Given the description of an element on the screen output the (x, y) to click on. 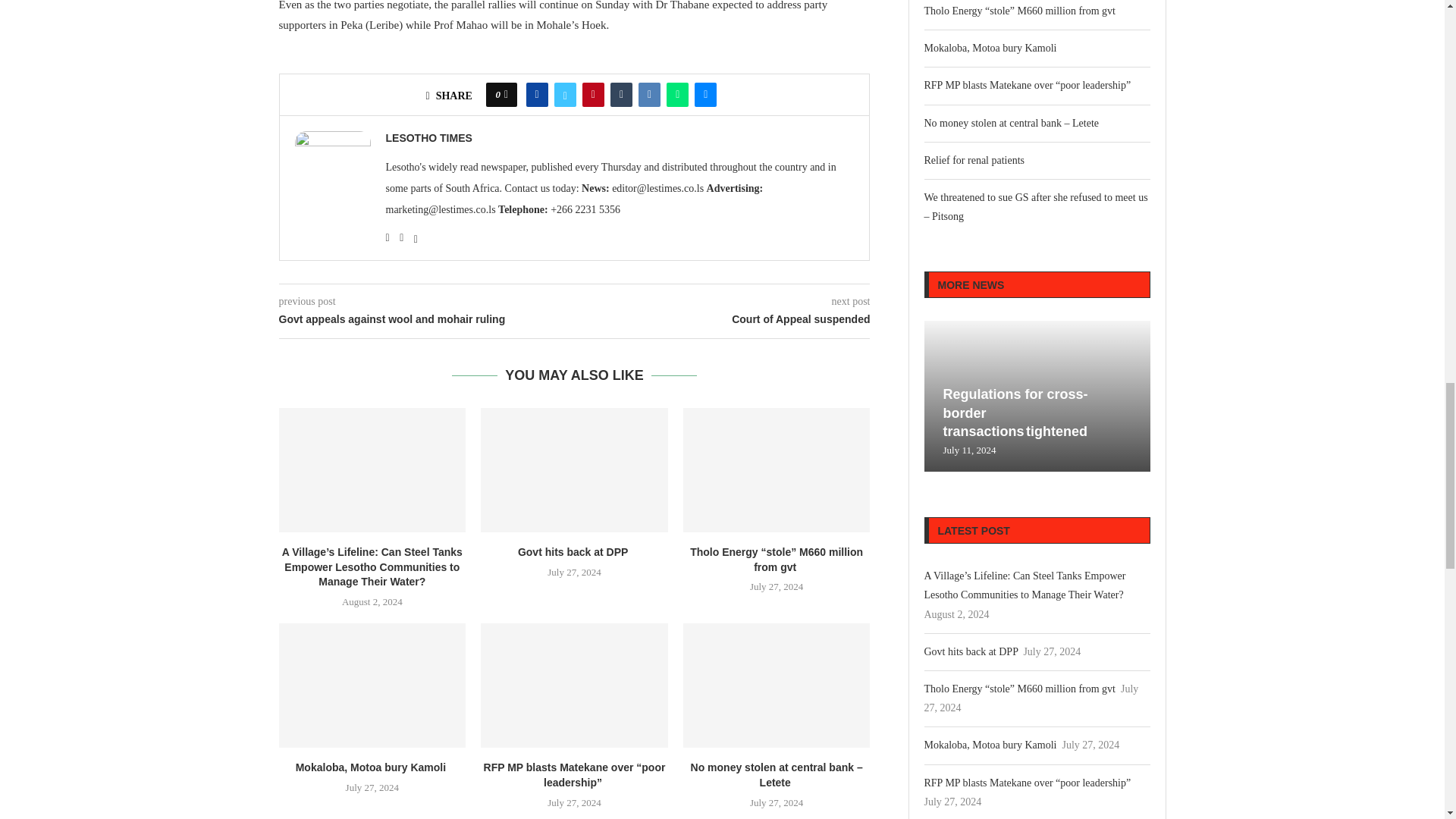
Author Lesotho Times (428, 138)
